Given the description of an element on the screen output the (x, y) to click on. 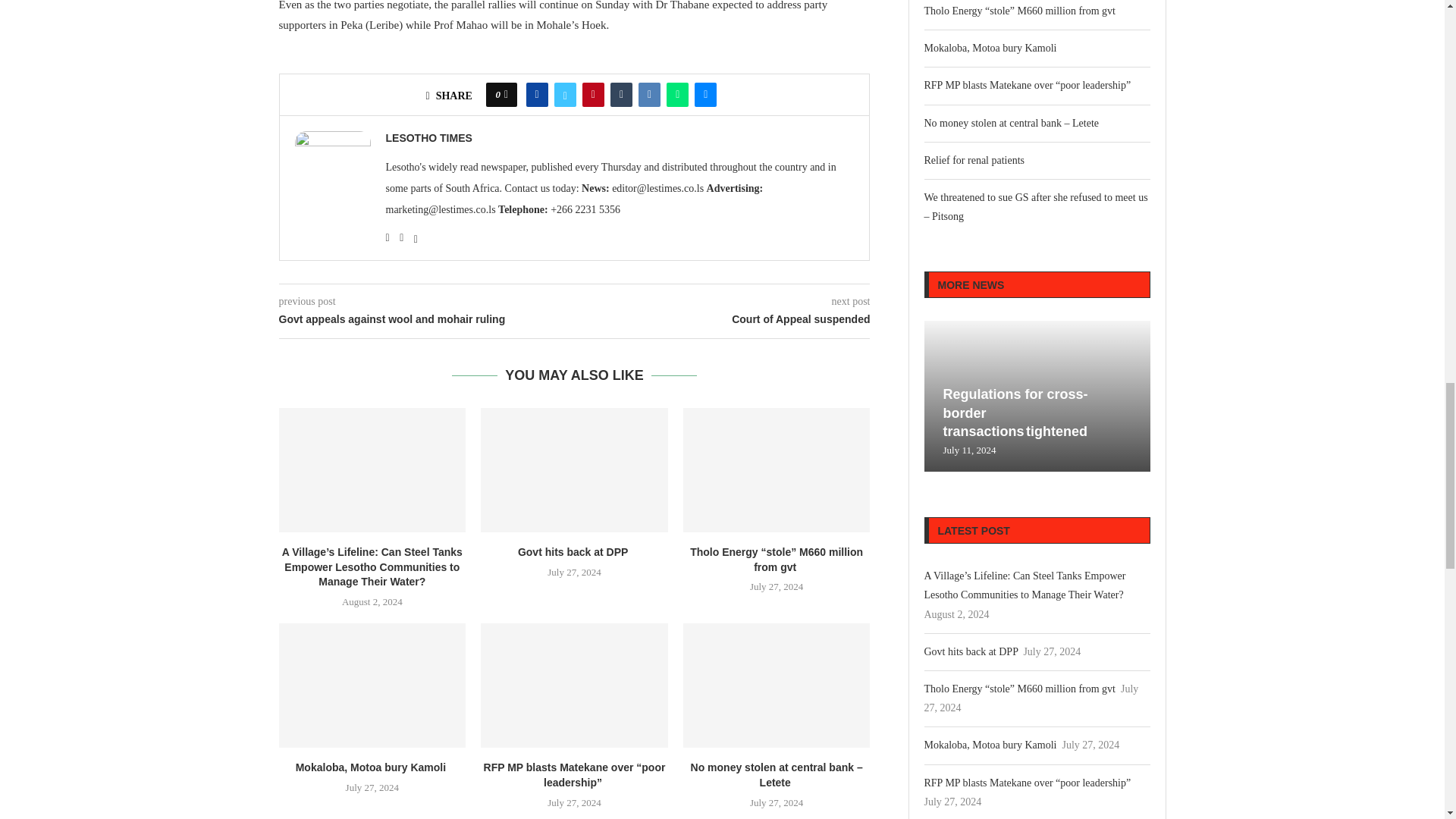
Author Lesotho Times (428, 138)
